Given the description of an element on the screen output the (x, y) to click on. 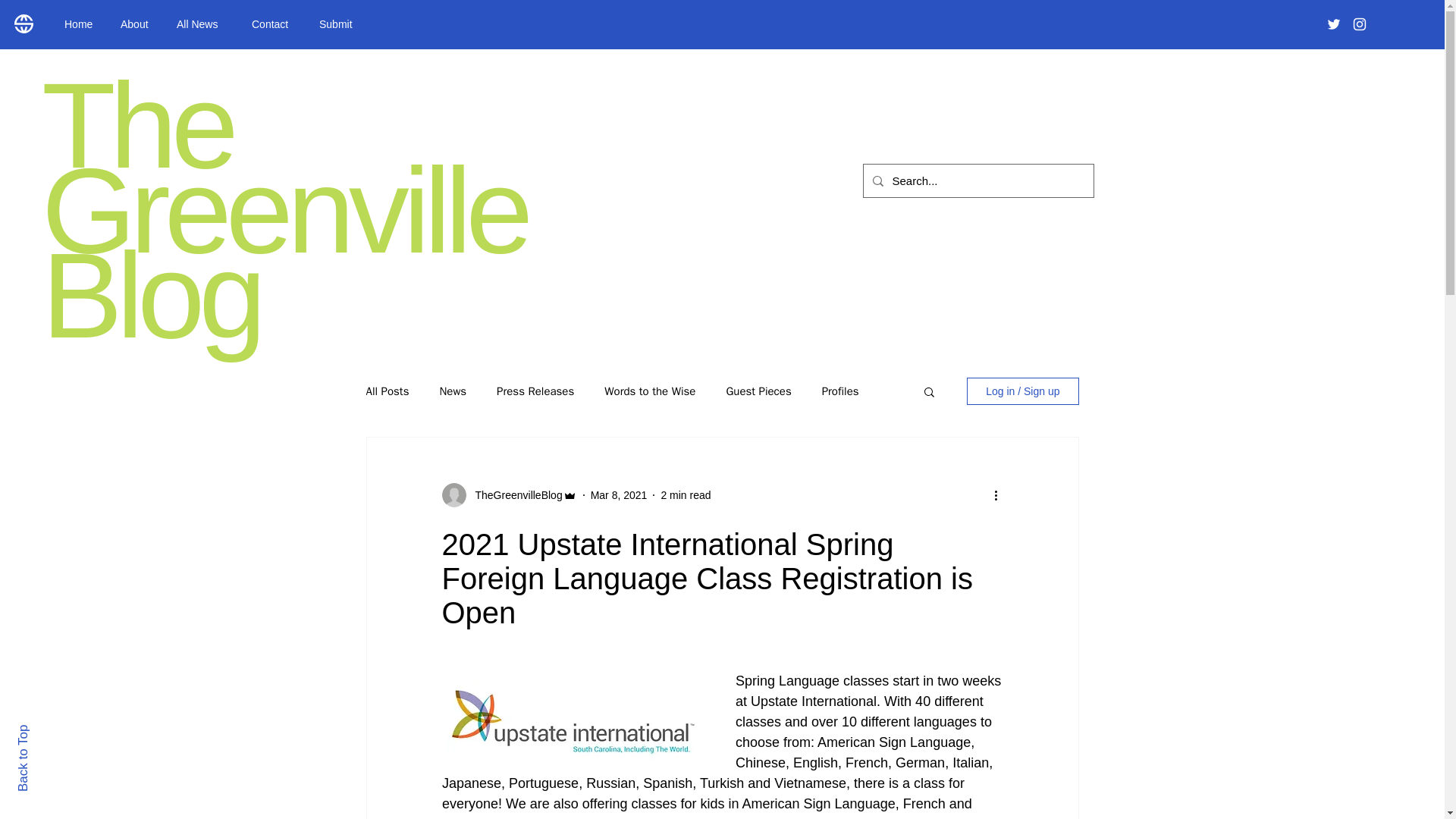
2 min read (685, 494)
Submit (339, 24)
Press Releases (534, 391)
Mar 8, 2021 (619, 494)
Contact (273, 24)
Guest Pieces (757, 391)
Home (80, 24)
News (452, 391)
About (137, 24)
